Given the description of an element on the screen output the (x, y) to click on. 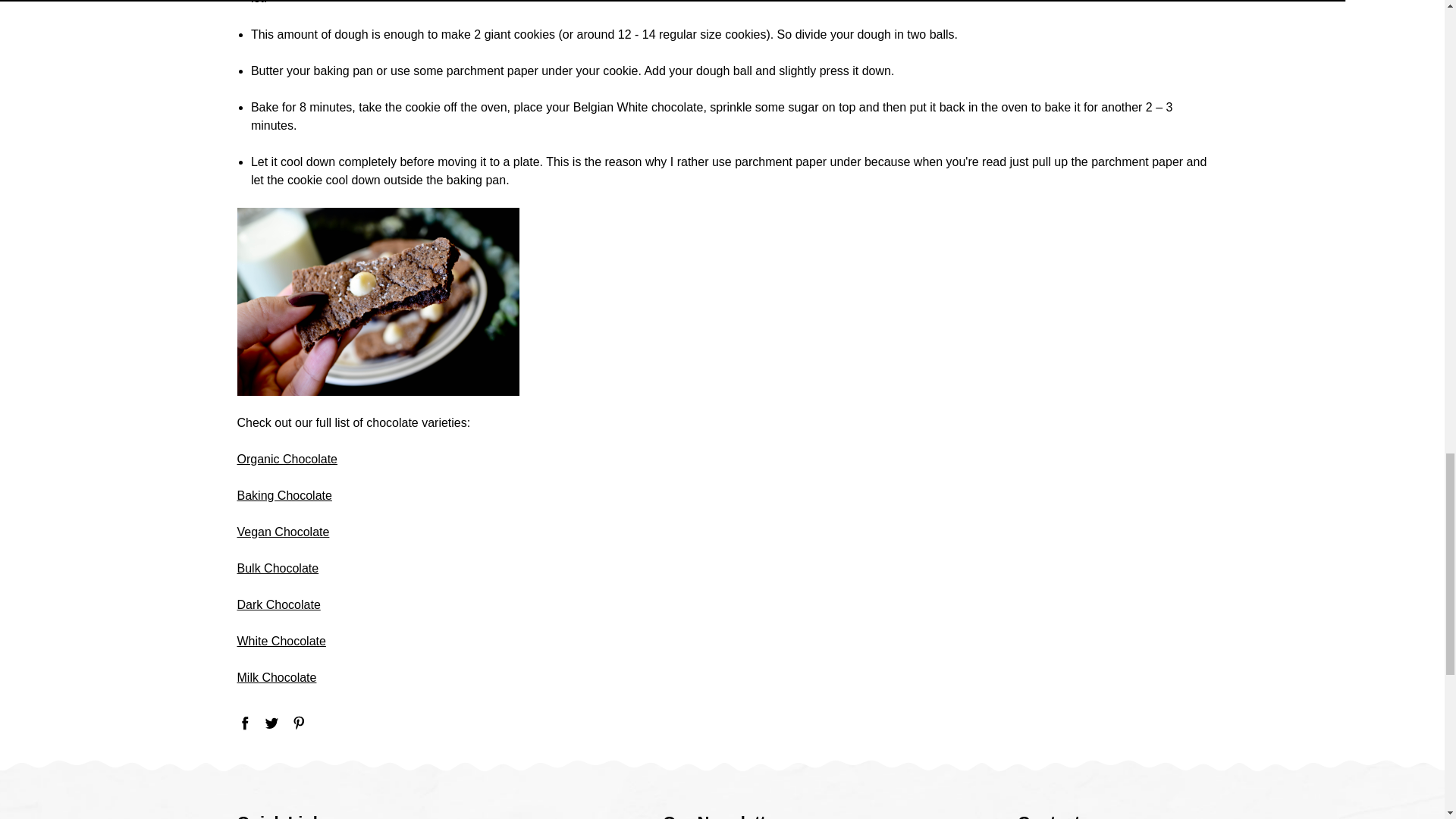
Pinterest (298, 722)
Facebook (243, 722)
Twitter (271, 722)
